Given the description of an element on the screen output the (x, y) to click on. 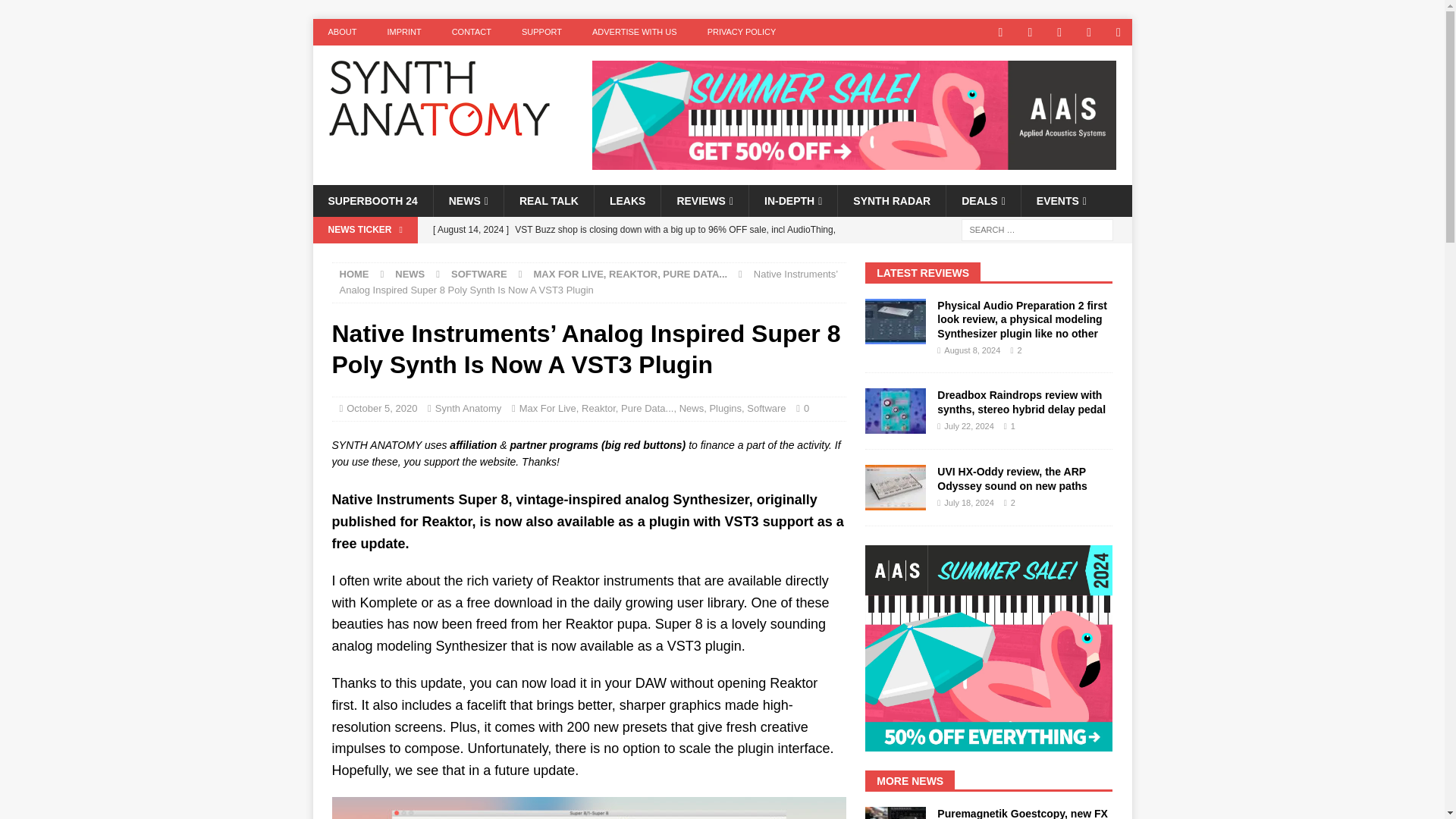
ADVERTISE WITH US (634, 31)
PRIVACY POLICY (742, 31)
IMPRINT (403, 31)
SUPPORT (541, 31)
CONTACT (471, 31)
ABOUT (342, 31)
